Given the description of an element on the screen output the (x, y) to click on. 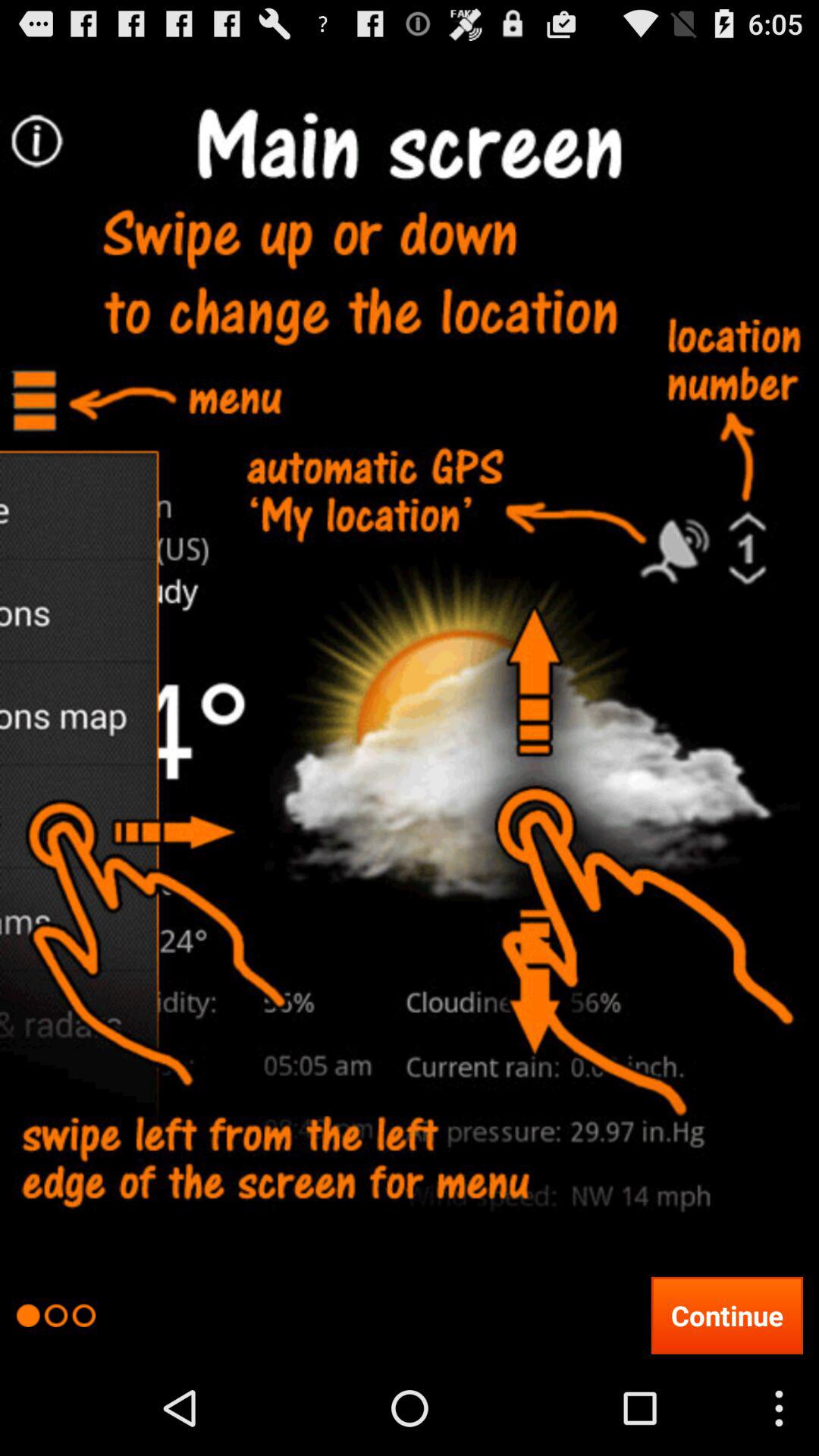
click the continue (727, 1315)
